Given the description of an element on the screen output the (x, y) to click on. 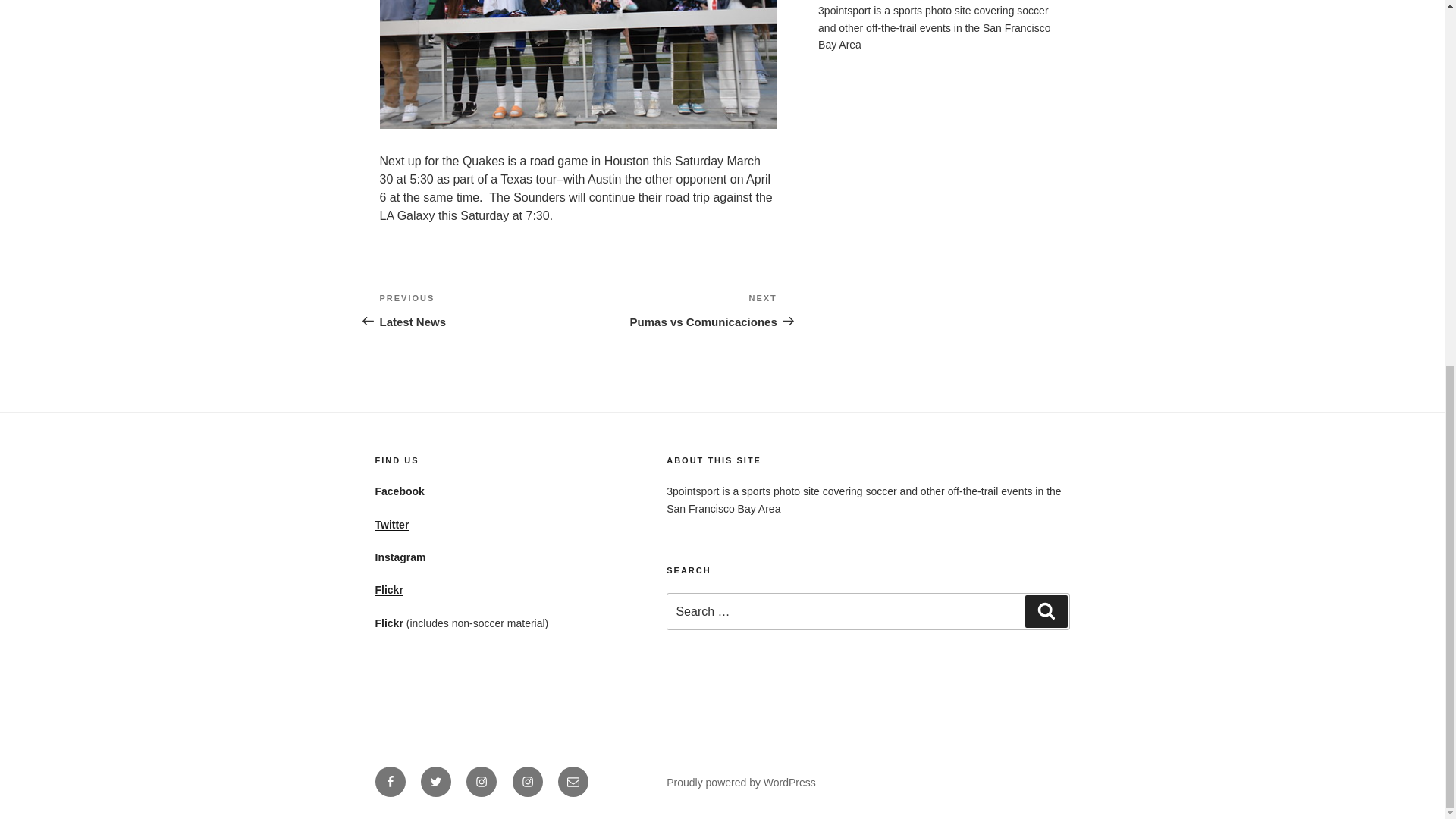
Email (572, 781)
Instagram (480, 781)
Twitter (391, 524)
Instagram (677, 309)
Flickr (527, 781)
Facebook (388, 589)
Flickr (398, 491)
Proudly powered by WordPress (388, 623)
